Given the description of an element on the screen output the (x, y) to click on. 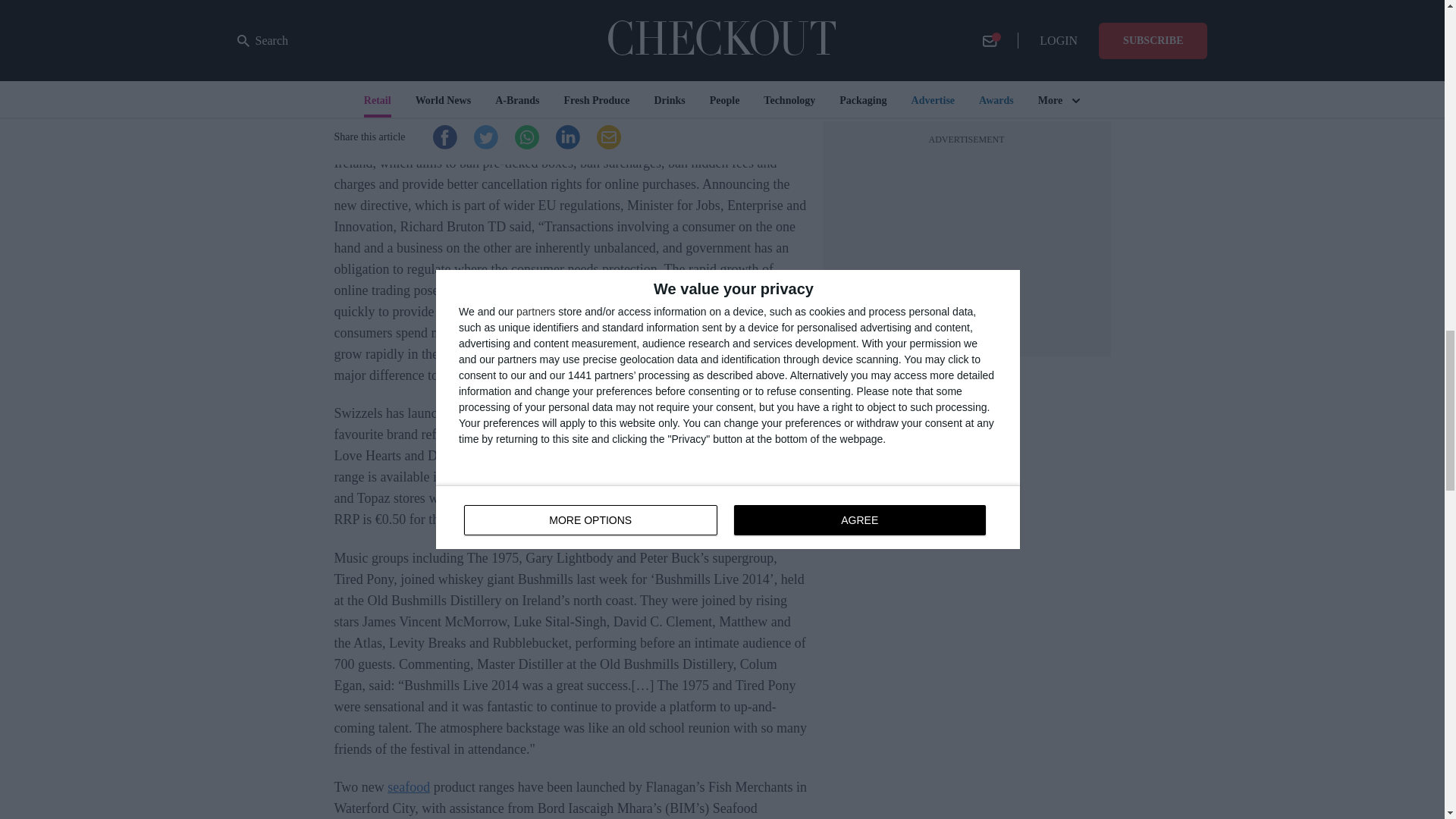
seafood (408, 786)
Centra (609, 476)
